Given the description of an element on the screen output the (x, y) to click on. 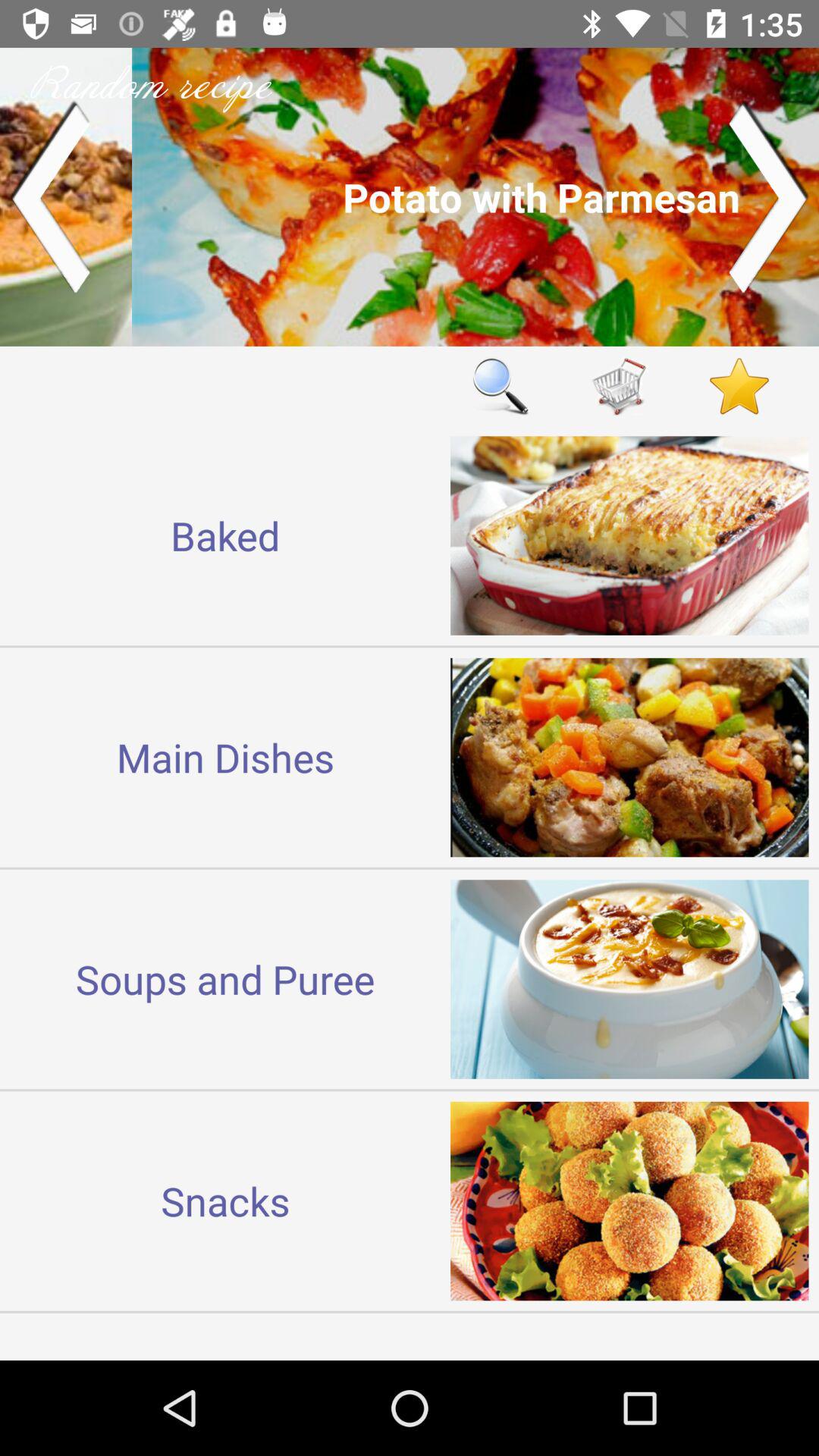
open icon below baked icon (225, 756)
